Given the description of an element on the screen output the (x, y) to click on. 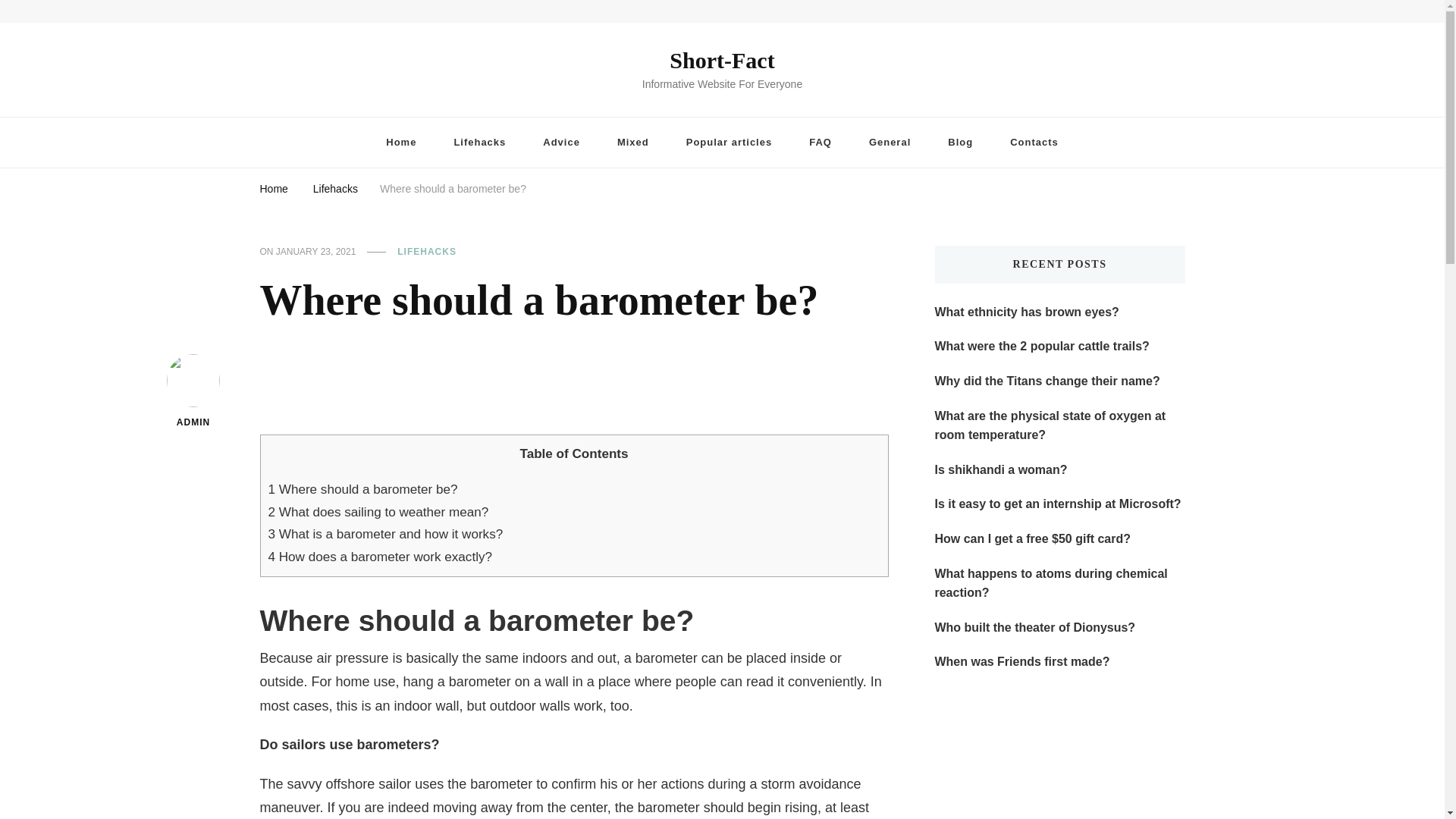
Blog (960, 142)
LIFEHACKS (427, 252)
What were the 2 popular cattle trails? (1041, 346)
Why did the Titans change their name? (1046, 381)
What ethnicity has brown eyes? (1026, 312)
What are the physical state of oxygen at room temperature? (1059, 425)
1 Where should a barometer be? (362, 489)
Is shikhandi a woman? (1000, 469)
Home (400, 142)
General (889, 142)
